Given the description of an element on the screen output the (x, y) to click on. 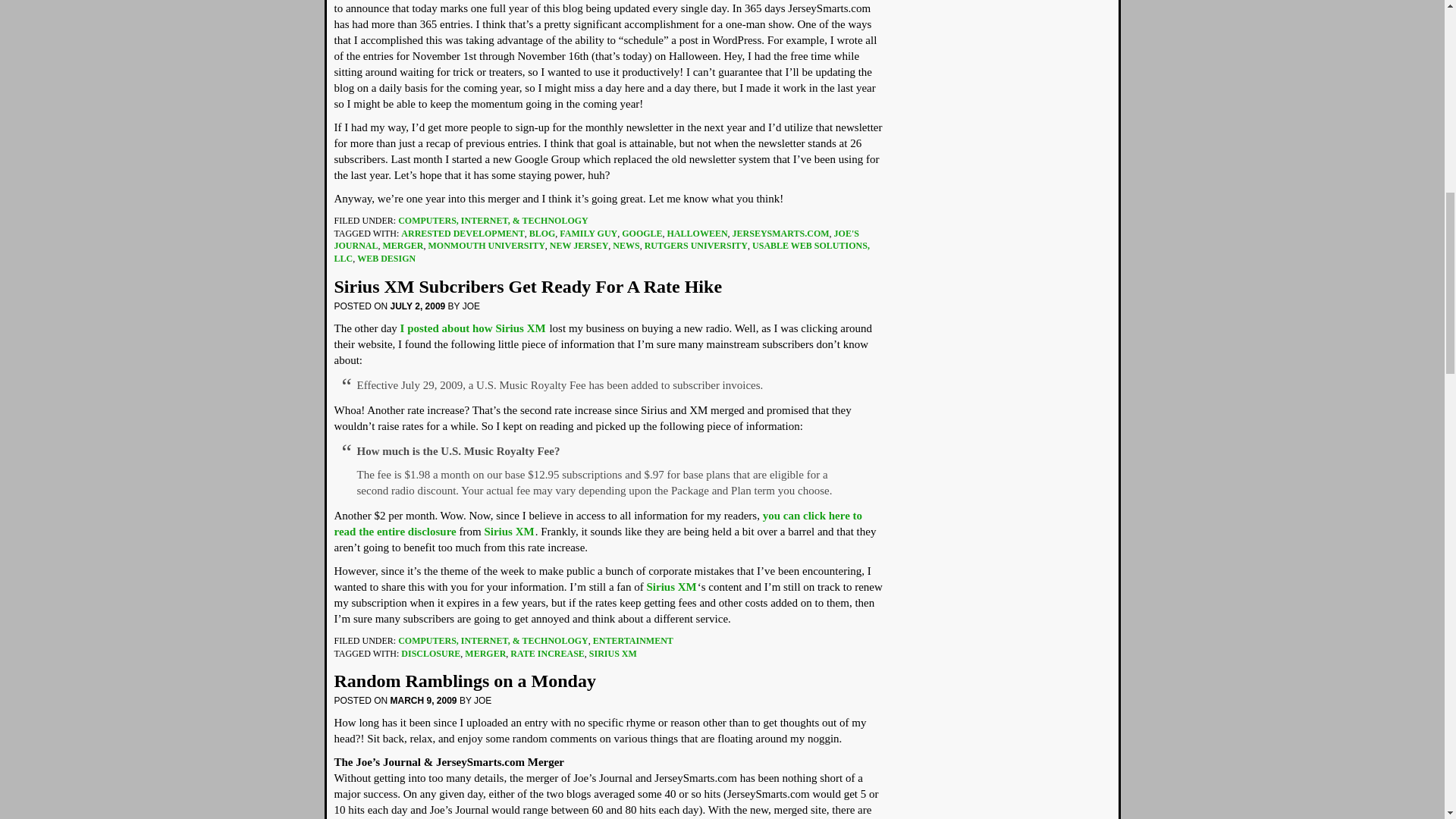
SIRIUS XM (613, 653)
FAMILY GUY (588, 233)
JOE'S JOURNAL (596, 239)
USABLE WEB SOLUTIONS, LLC (601, 251)
RATE INCREASE (547, 653)
MERGER (484, 653)
MONMOUTH UNIVERSITY (486, 245)
GOOGLE (641, 233)
Random Ramblings on a Monday (464, 680)
BLOG (542, 233)
